Given the description of an element on the screen output the (x, y) to click on. 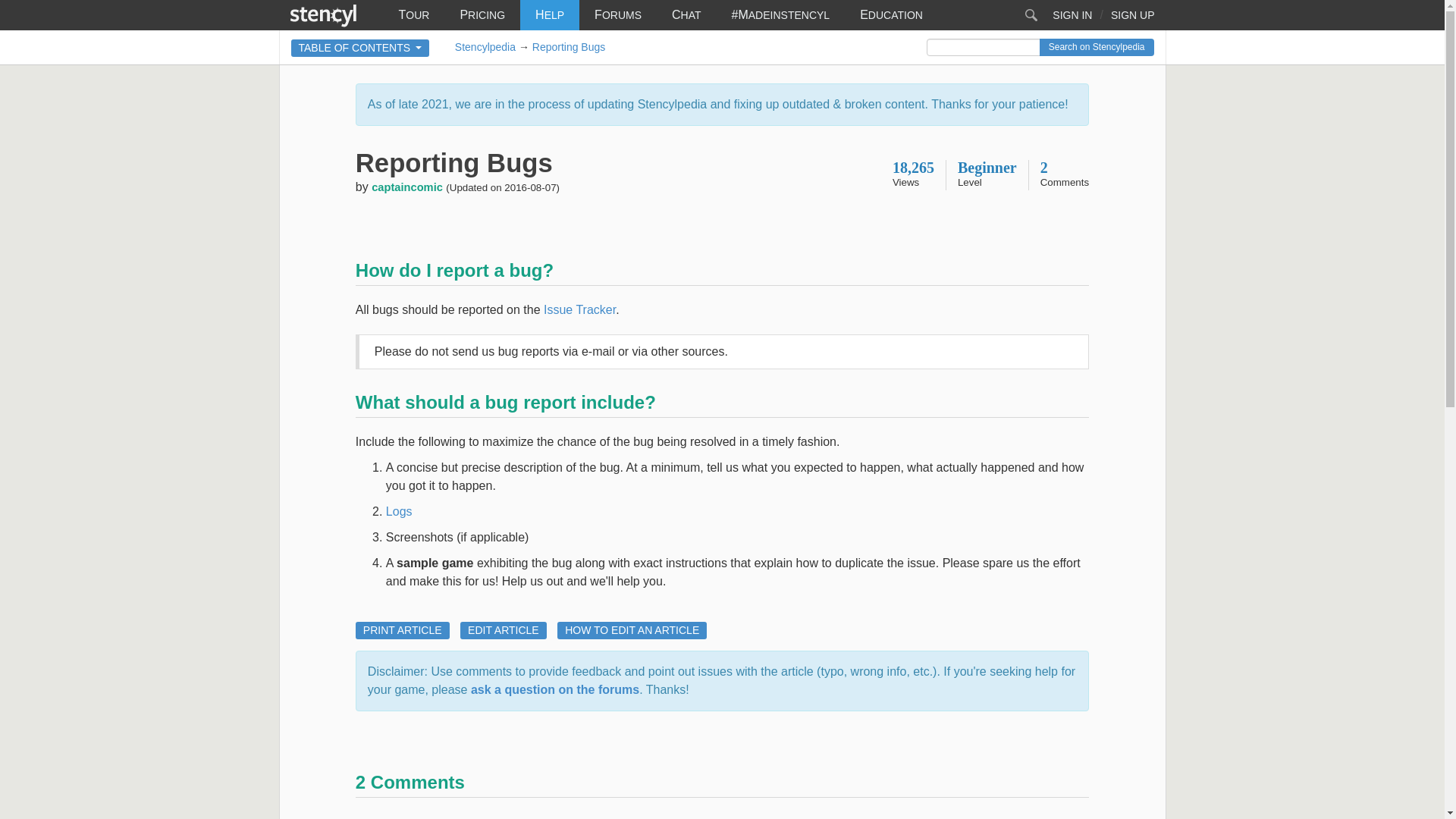
FORUMS (617, 15)
Reporting Bugs (568, 46)
SIGN IN (1071, 15)
PRICING (481, 15)
Stencylpedia (484, 46)
Search on Stencylpedia (1096, 47)
HELP (549, 15)
TABLE OF CONTENTS (360, 47)
SIGN UP (1132, 15)
CHAT (686, 15)
